Given the description of an element on the screen output the (x, y) to click on. 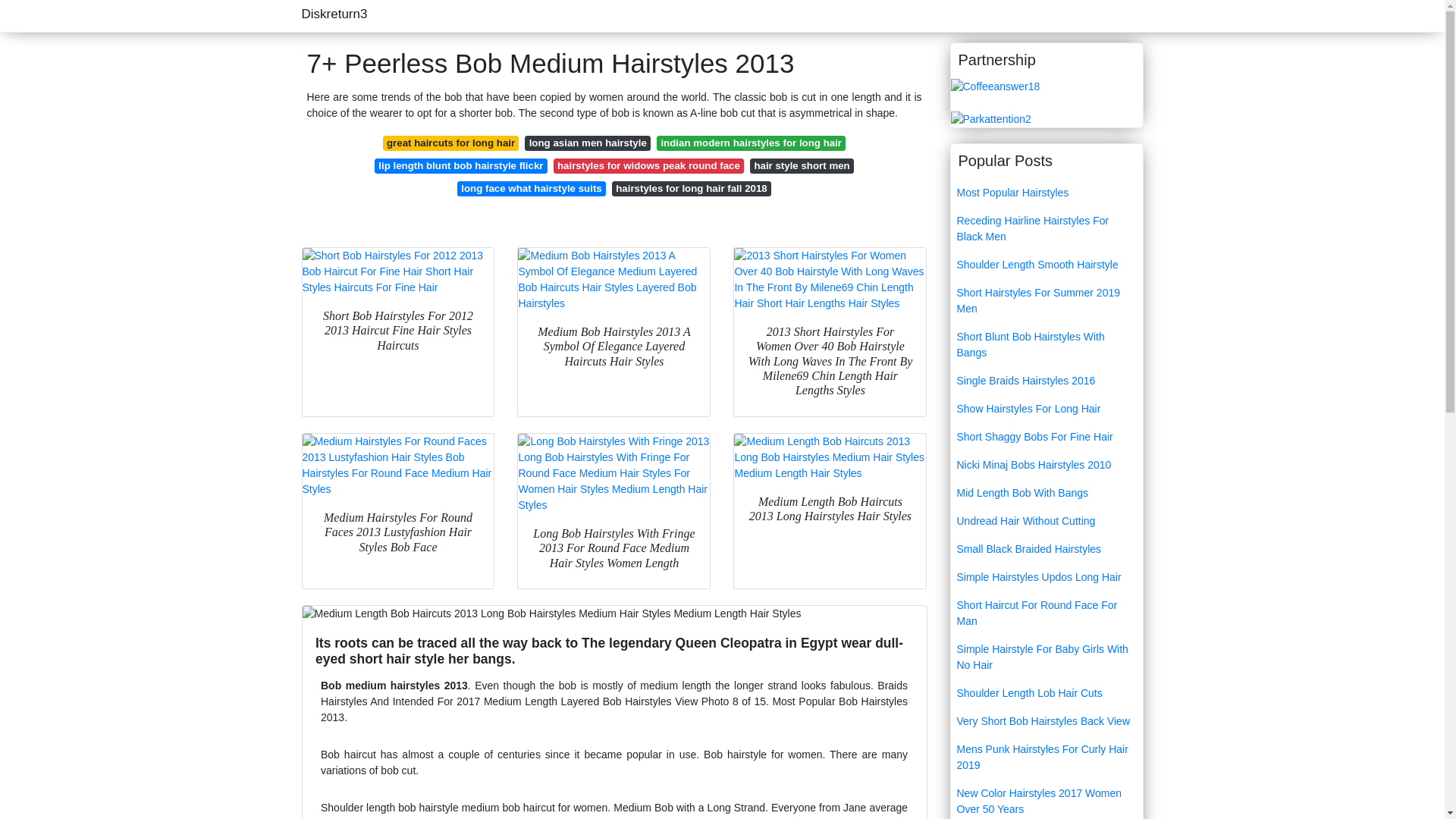
Nicki Minaj Bobs Hairstyles 2010 (1046, 465)
Small Black Braided Hairstyles (1046, 549)
Parkattention2 (990, 118)
Diskreturn3 (334, 13)
Short Haircut For Round Face For Man (1046, 613)
Coffeeanswer18 (995, 85)
Short Shaggy Bobs For Fine Hair (1046, 437)
Undread Hair Without Cutting (1046, 520)
Receding Hairline Hairstyles For Black Men (1046, 228)
hairstyles for long hair fall 2018 (691, 188)
